Given the description of an element on the screen output the (x, y) to click on. 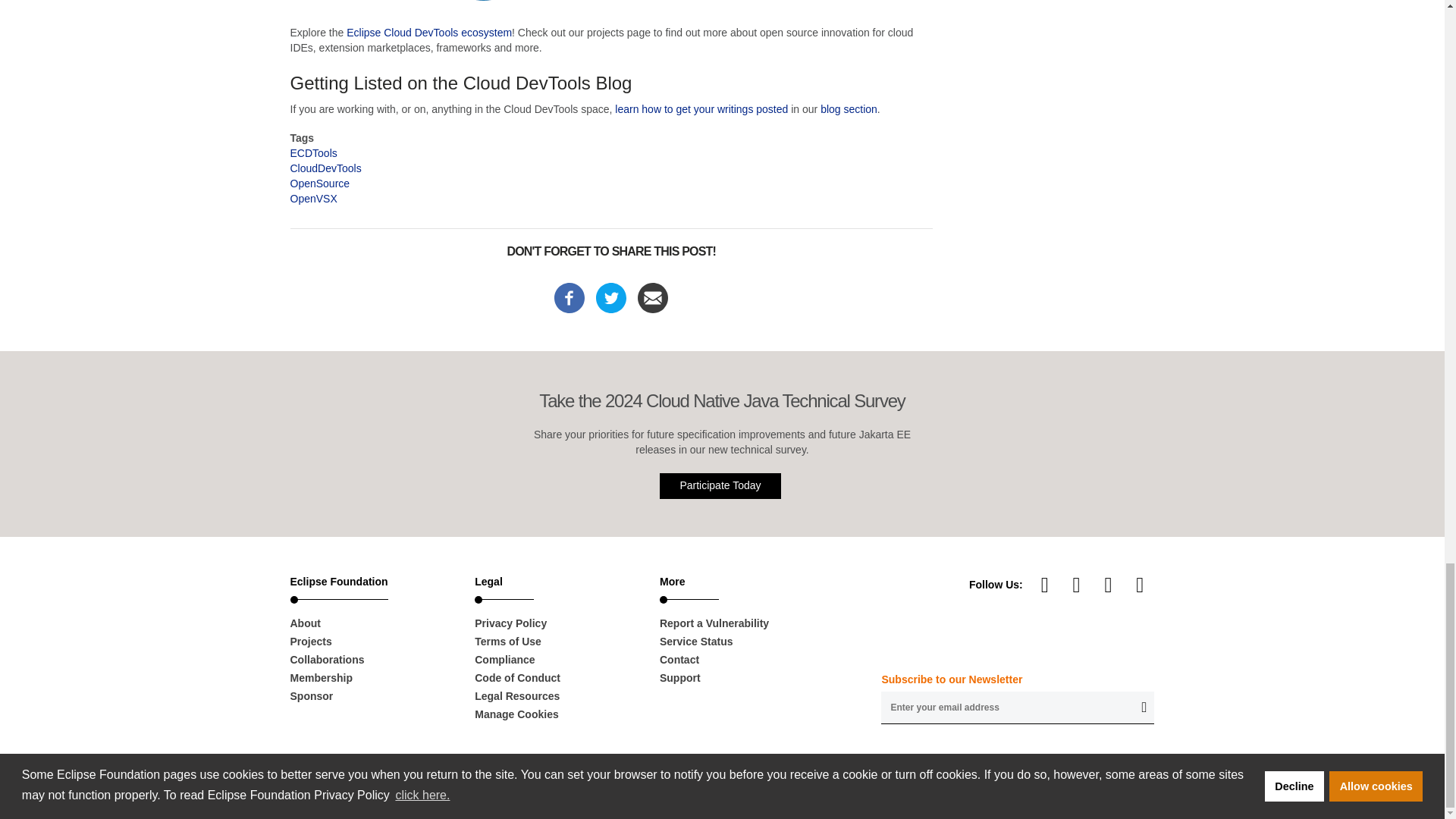
Facebook (569, 296)
Twitter (1139, 583)
Twitter (610, 296)
Facebook (1108, 583)
YouTube Channel (1044, 583)
LinkedIn (1076, 583)
Email (652, 296)
